Given the description of an element on the screen output the (x, y) to click on. 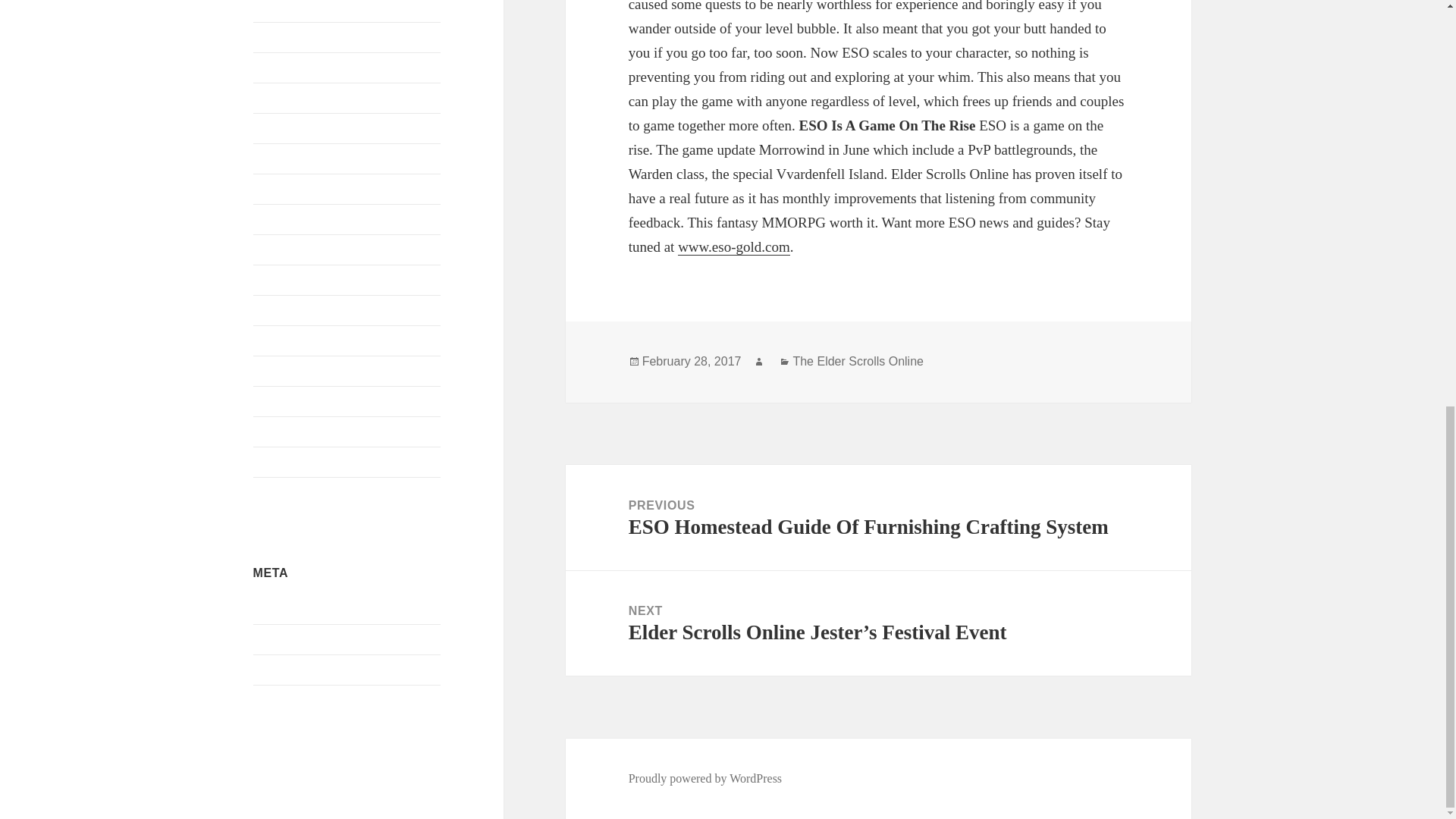
www.eso-gold.com (734, 247)
FIFA Video Games (299, 66)
Log in (269, 608)
Diablo 4 (274, 6)
Madden NFL (285, 157)
Fallout 76 (277, 36)
TERA (269, 400)
Game Accounts (291, 127)
The Elder Scrolls Online (313, 431)
MLB The Show (292, 218)
Wildstar (273, 461)
NBA 2K (274, 278)
WOW Classic (288, 491)
NHL Video Games (299, 309)
MLB The Show Stubs (307, 699)
